Given the description of an element on the screen output the (x, y) to click on. 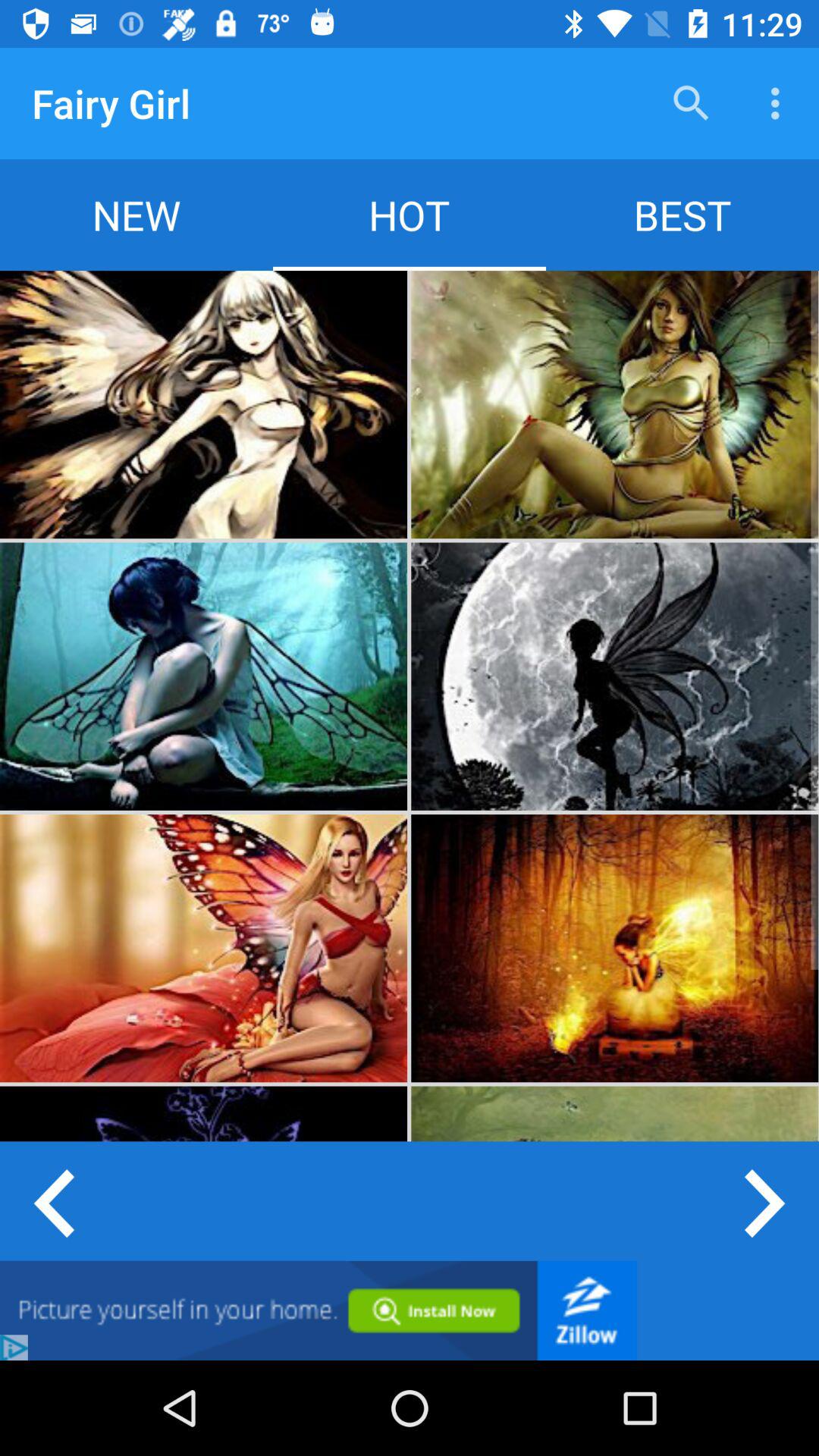
go to next page (766, 1201)
